Given the description of an element on the screen output the (x, y) to click on. 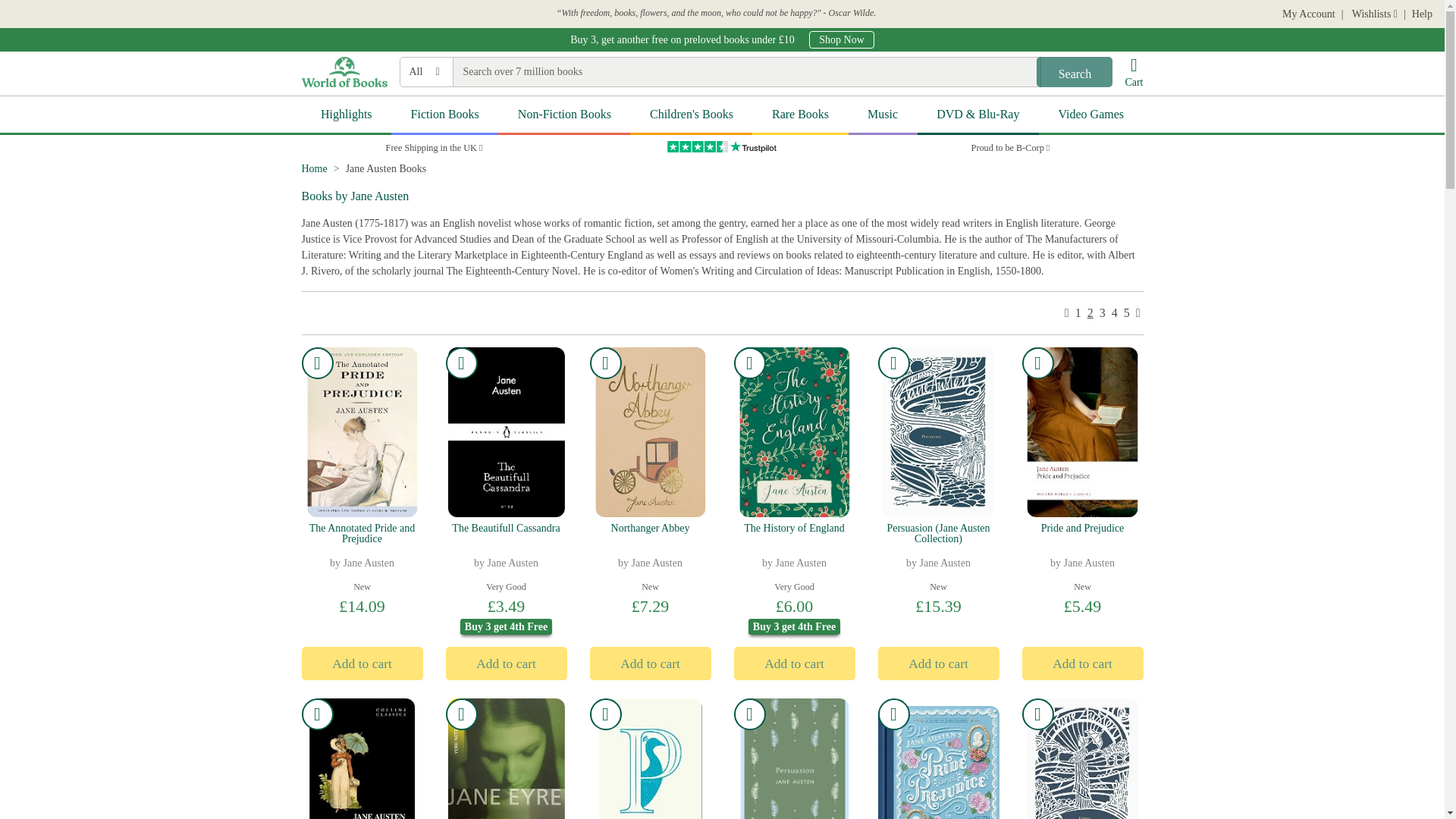
Rare Books (799, 115)
Search (1074, 71)
Non-Fiction Books (563, 115)
Help (1422, 13)
Shop Now (506, 550)
Music (842, 39)
Video Games (882, 115)
My Account (1090, 115)
Home (1308, 13)
Children's Books (314, 168)
Fiction Books (691, 115)
Add to cart (444, 115)
Trustpilot (362, 663)
